Given the description of an element on the screen output the (x, y) to click on. 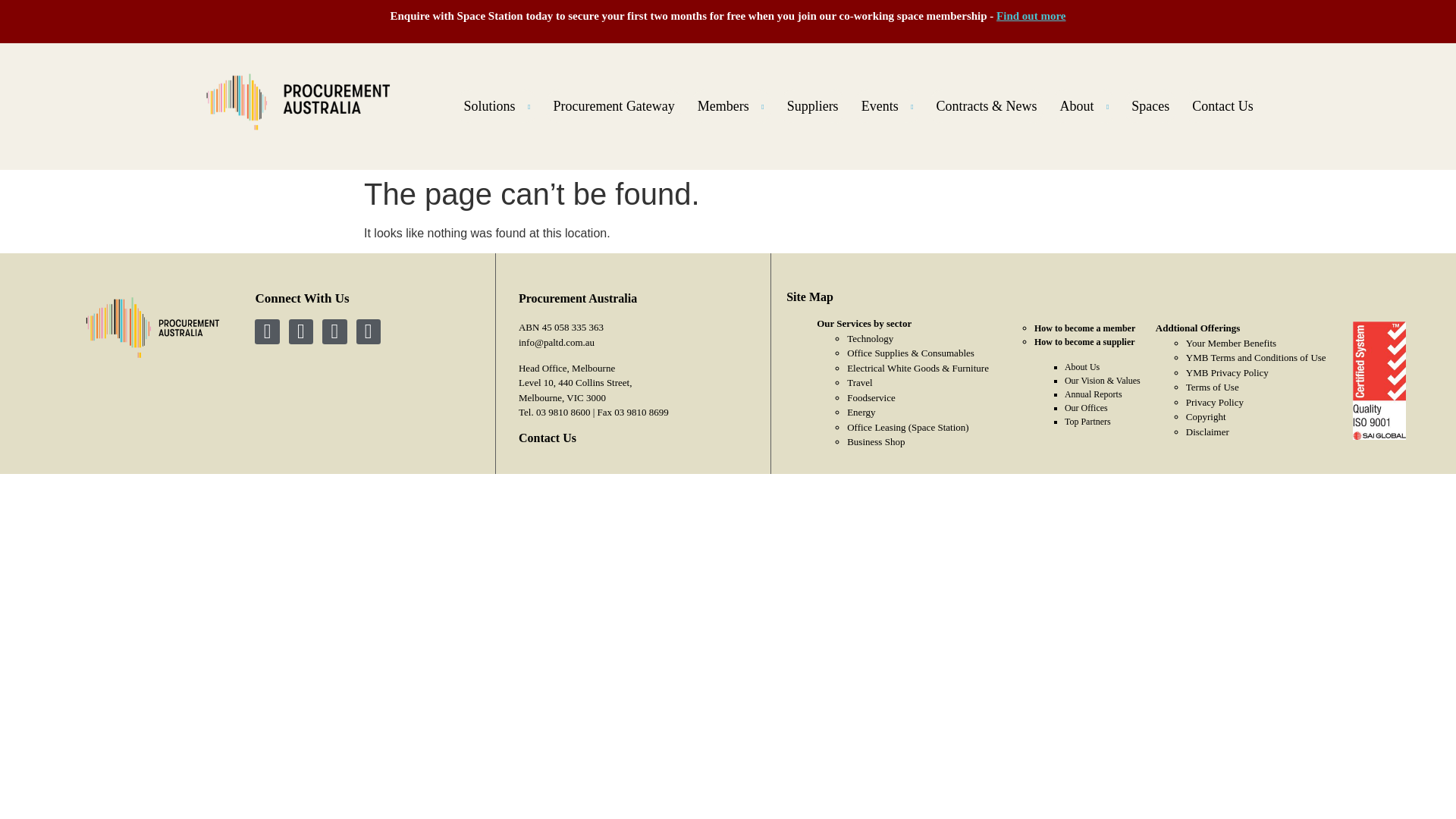
Spaces (1150, 106)
Solutions (497, 106)
Procurement Gateway (612, 106)
Members (730, 106)
Suppliers (811, 106)
About (1083, 106)
Contact Us (1222, 106)
Produrement Australia (304, 101)
Events (887, 106)
Procurement Australia (152, 327)
Find out more (1030, 15)
